Given the description of an element on the screen output the (x, y) to click on. 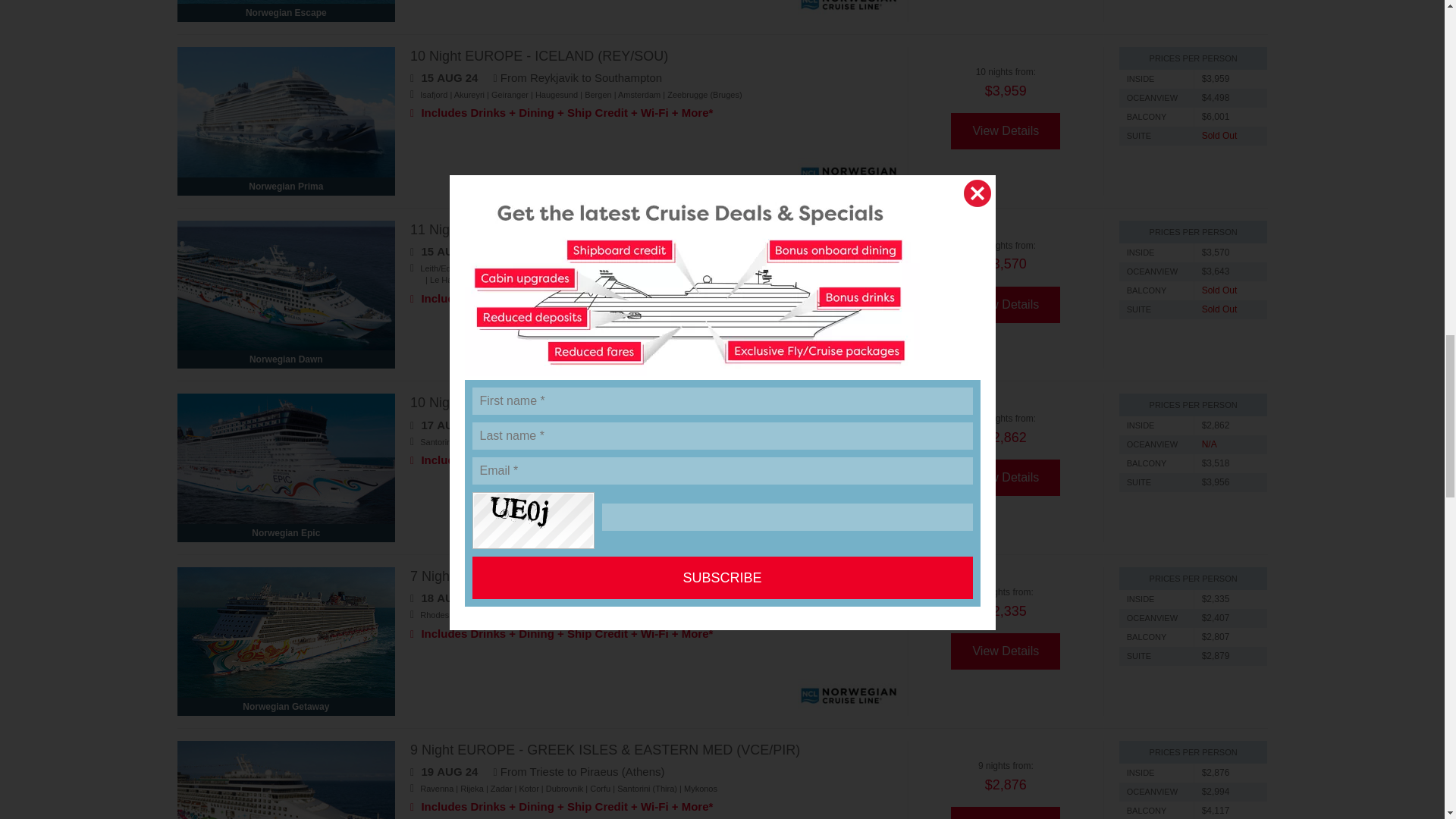
Norwegian Cruise Line (848, 694)
Norwegian Cruise Line (848, 521)
Norwegian Cruise Line (848, 347)
Norwegian Cruise Line (848, 174)
Norwegian Cruise Line (848, 9)
